Given the description of an element on the screen output the (x, y) to click on. 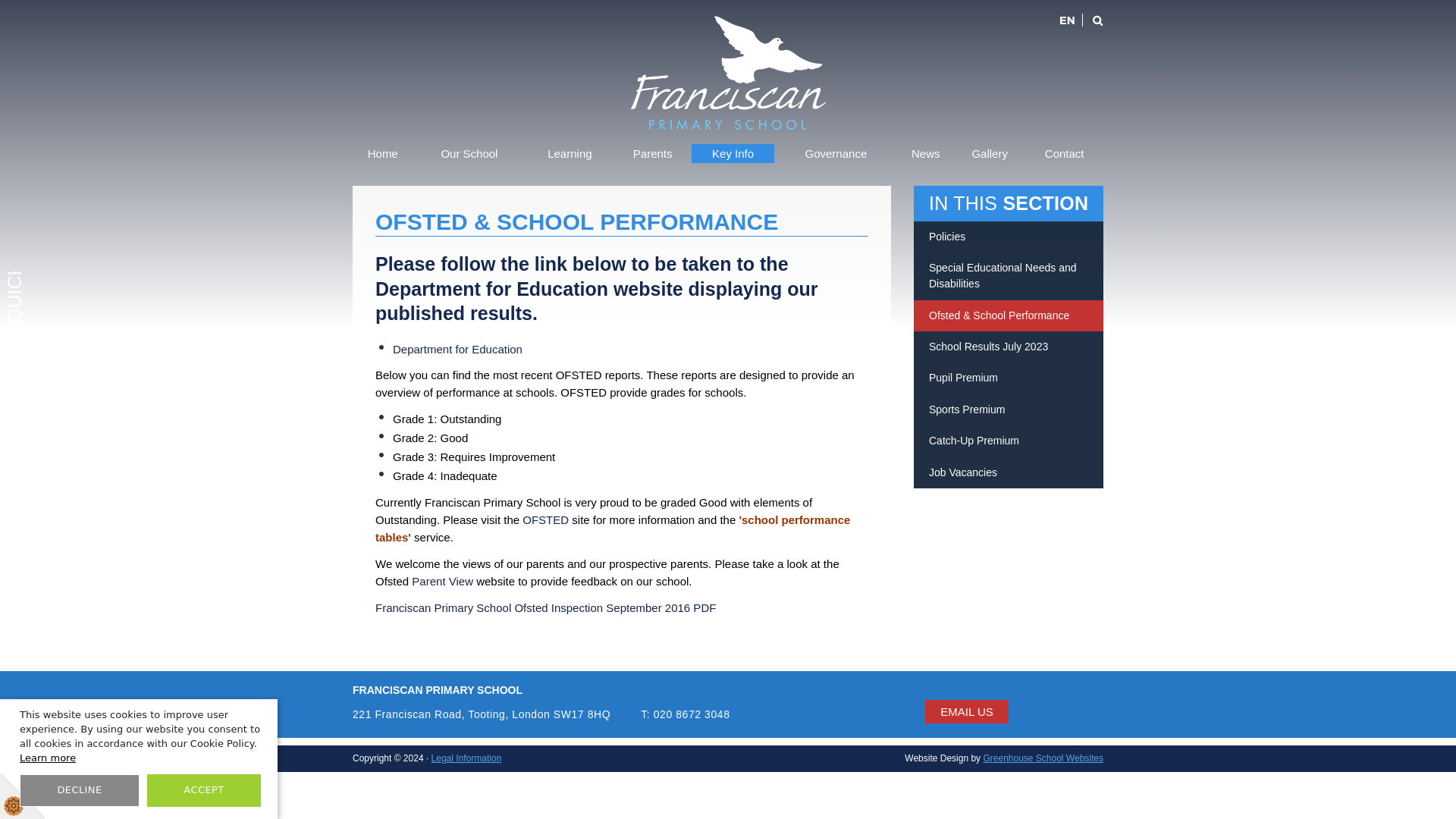
Learning (568, 153)
Home (382, 153)
Parents (651, 153)
OFSTED Website (547, 519)
Our School (468, 153)
